Given the description of an element on the screen output the (x, y) to click on. 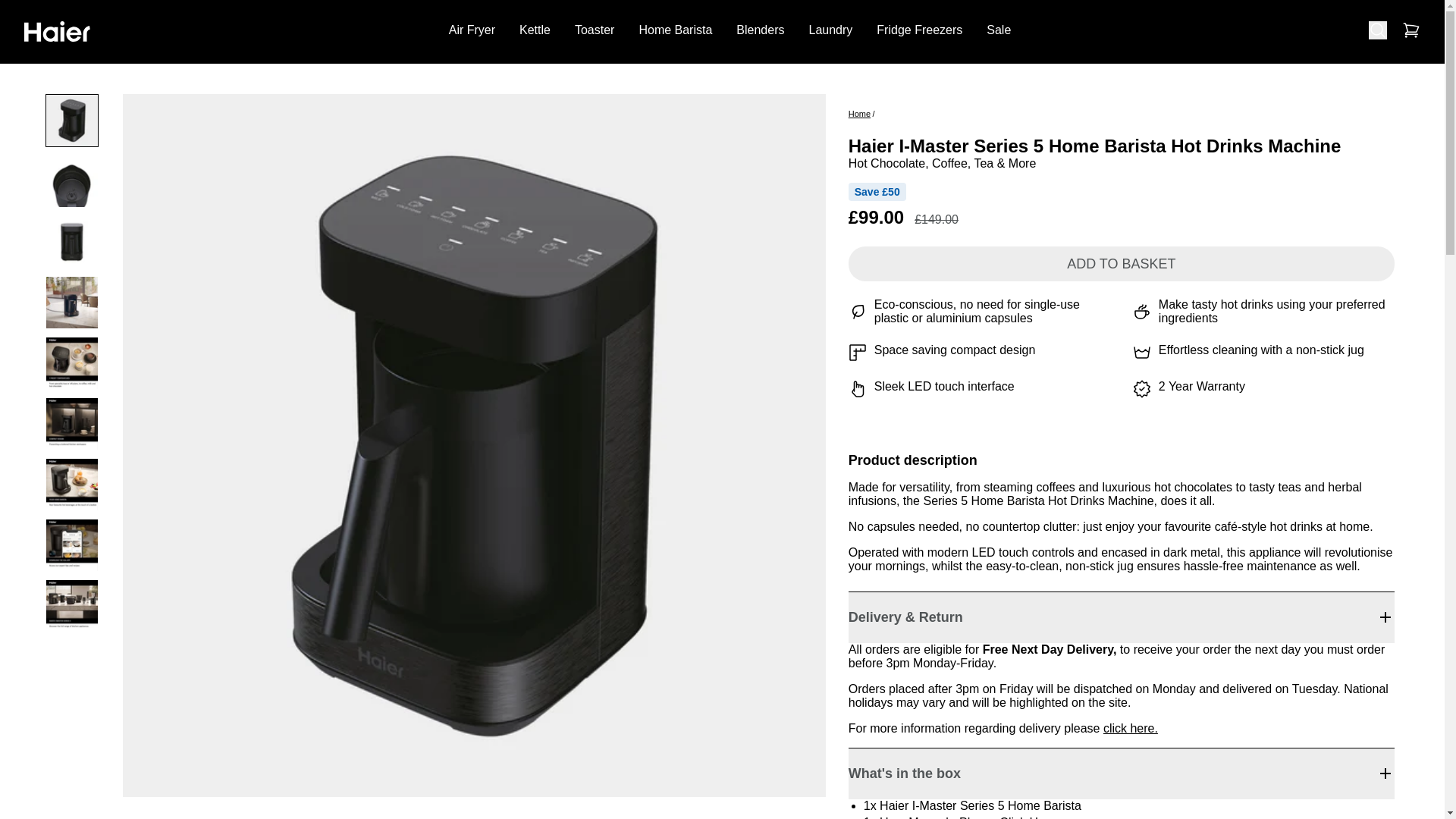
Laundry (829, 29)
Fridge Freezers (919, 29)
ADD TO BASKET (1121, 263)
What's in the box (1121, 773)
Home (859, 112)
Kettle (534, 29)
Please Click Here (1007, 817)
Air Fryer (471, 29)
Home Barista (675, 29)
Sale (998, 29)
Toaster (594, 29)
Blenders (760, 29)
click here. (1130, 727)
